Given the description of an element on the screen output the (x, y) to click on. 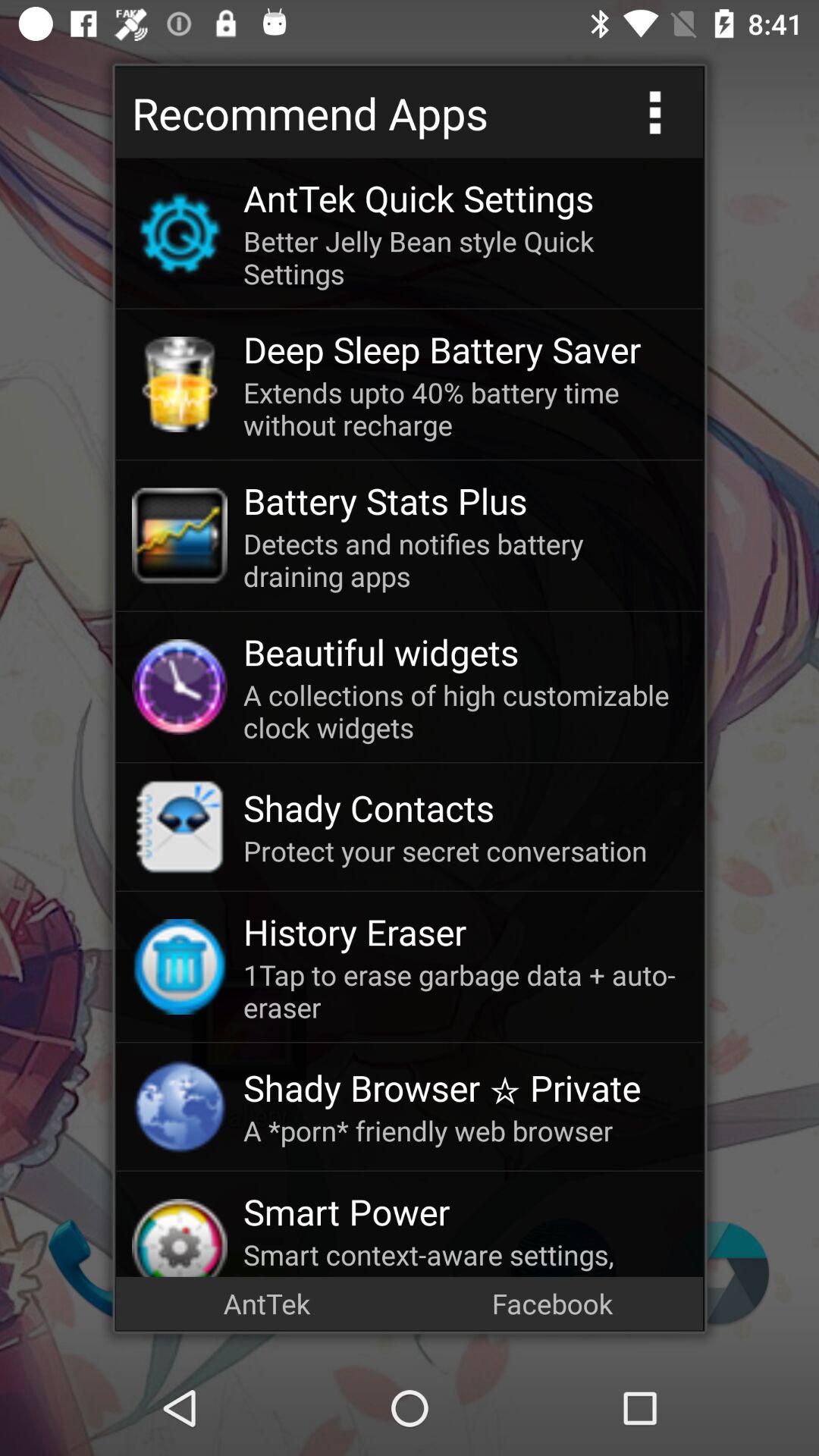
choose facebook icon (552, 1303)
